Given the description of an element on the screen output the (x, y) to click on. 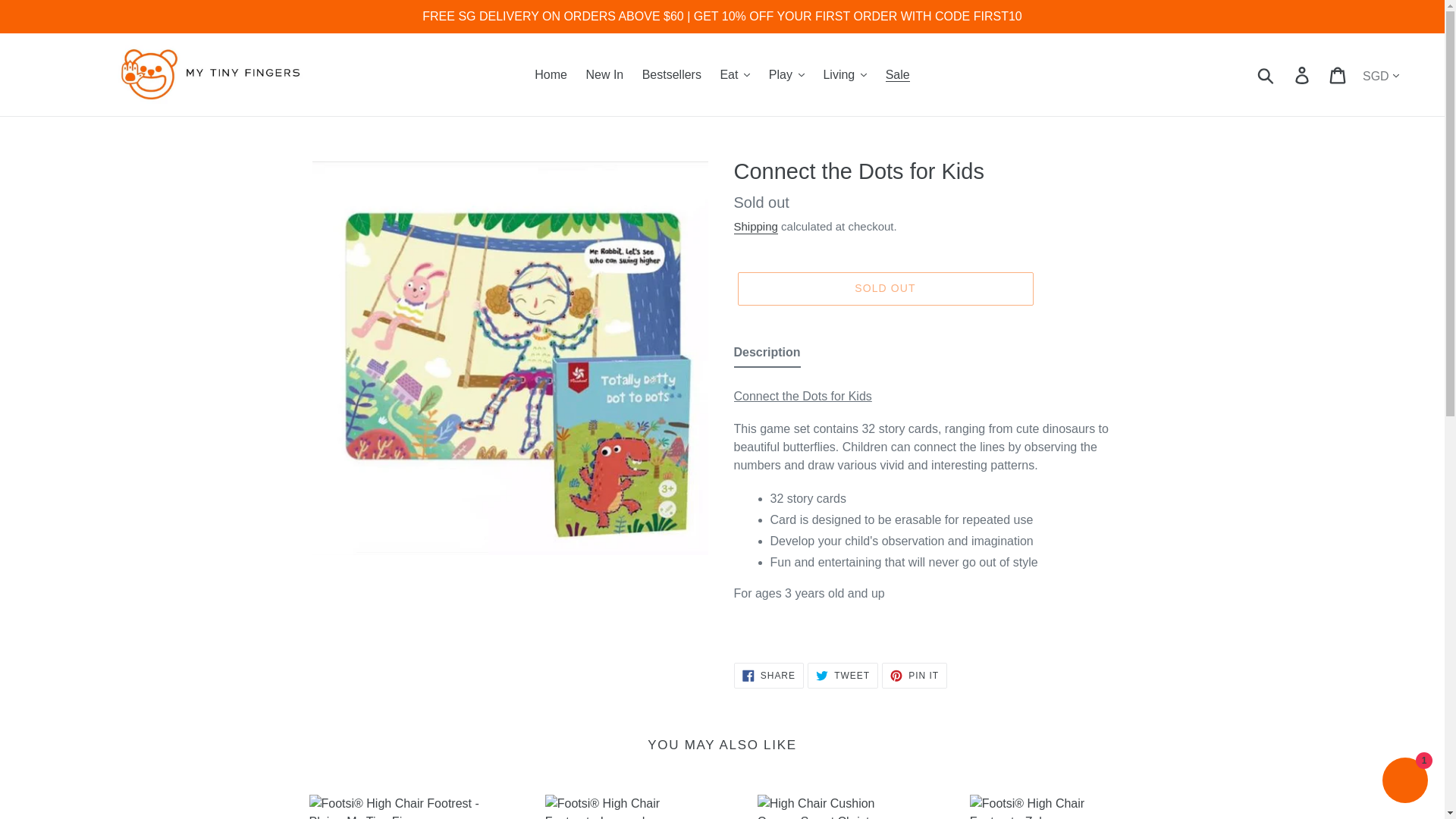
Bestsellers (671, 74)
Home (551, 74)
Submit (1266, 73)
Cart (1338, 73)
Sale (897, 74)
New In (604, 74)
Log in (1302, 73)
Shopify online store chat (1404, 781)
